Given the description of an element on the screen output the (x, y) to click on. 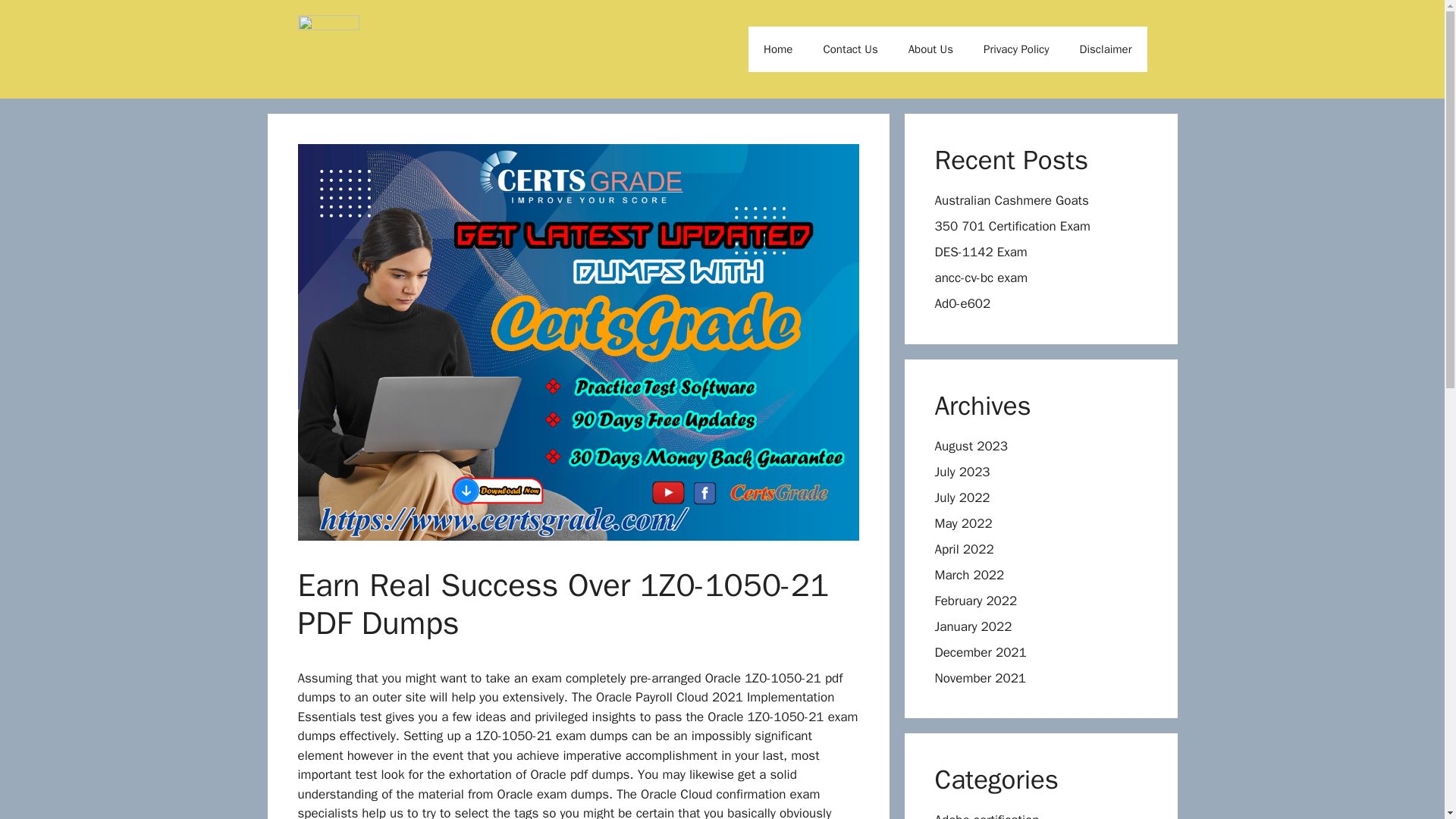
March 2022 (969, 575)
350 701 Certification Exam (1011, 226)
Australian Cashmere Goats (1010, 200)
May 2022 (962, 523)
Adobe certification (986, 815)
Ad0-e602 (962, 303)
July 2022 (962, 497)
April 2022 (963, 549)
About Us (930, 49)
December 2021 (980, 652)
